Given the description of an element on the screen output the (x, y) to click on. 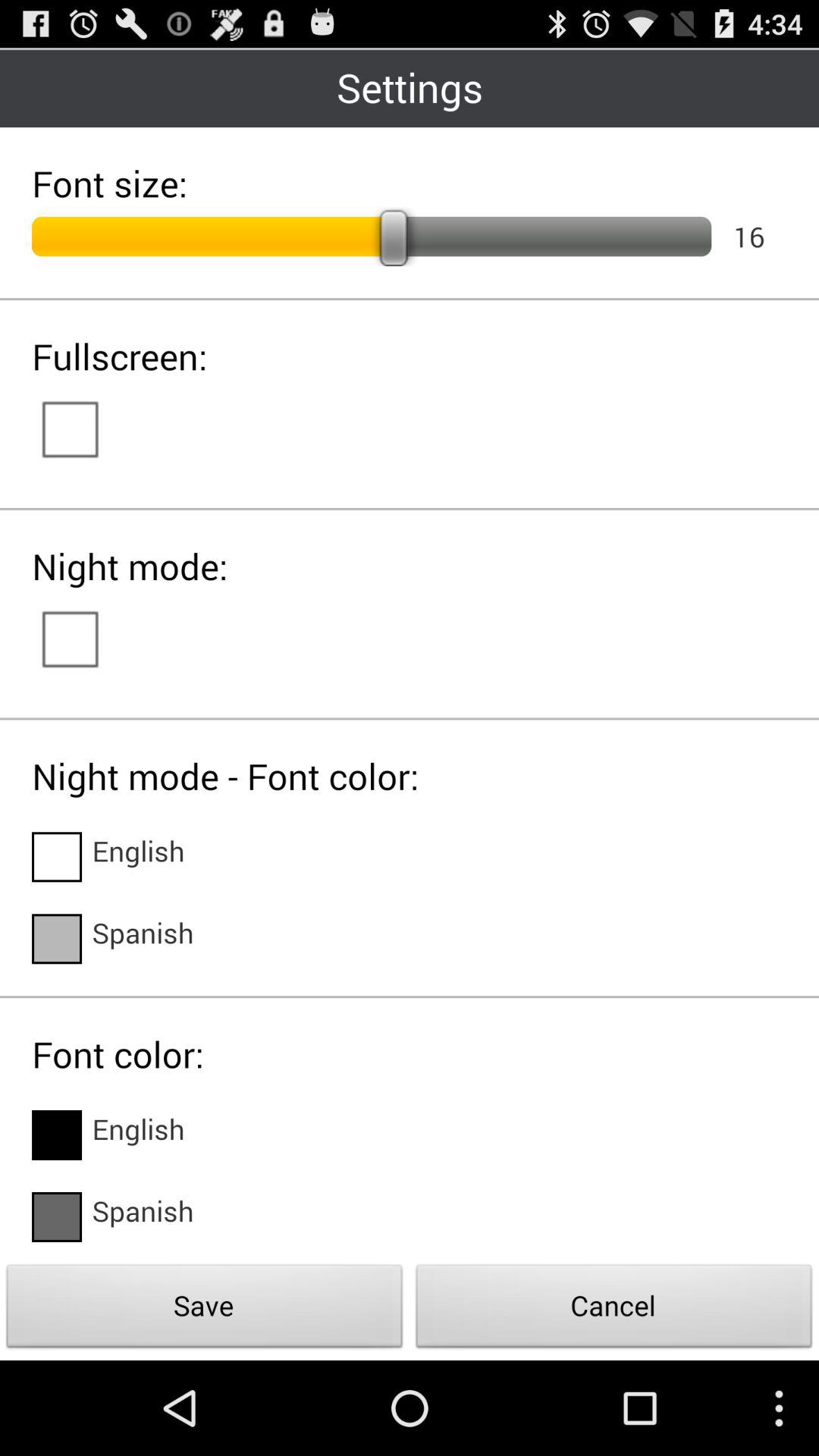
launch icon next to the save icon (614, 1310)
